Given the description of an element on the screen output the (x, y) to click on. 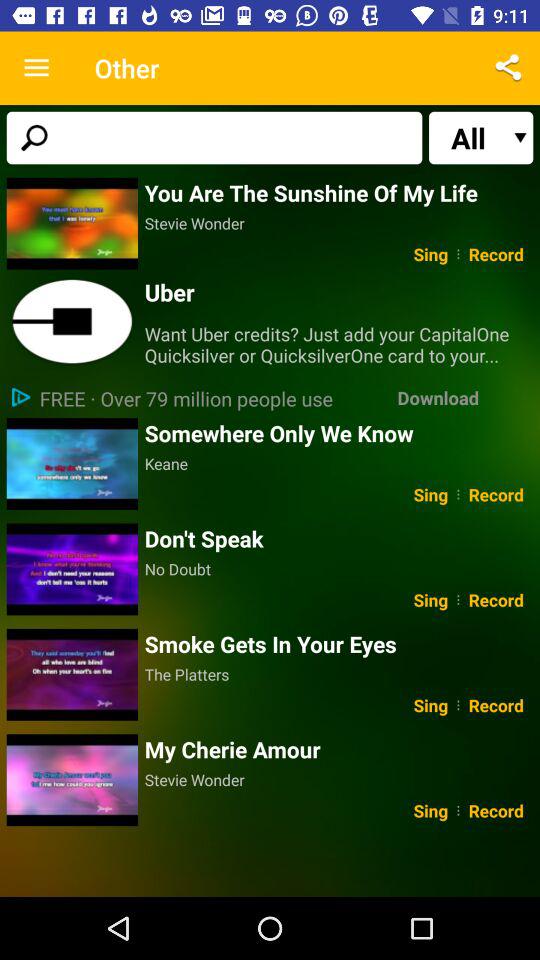
jump to don't speak item (338, 538)
